Given the description of an element on the screen output the (x, y) to click on. 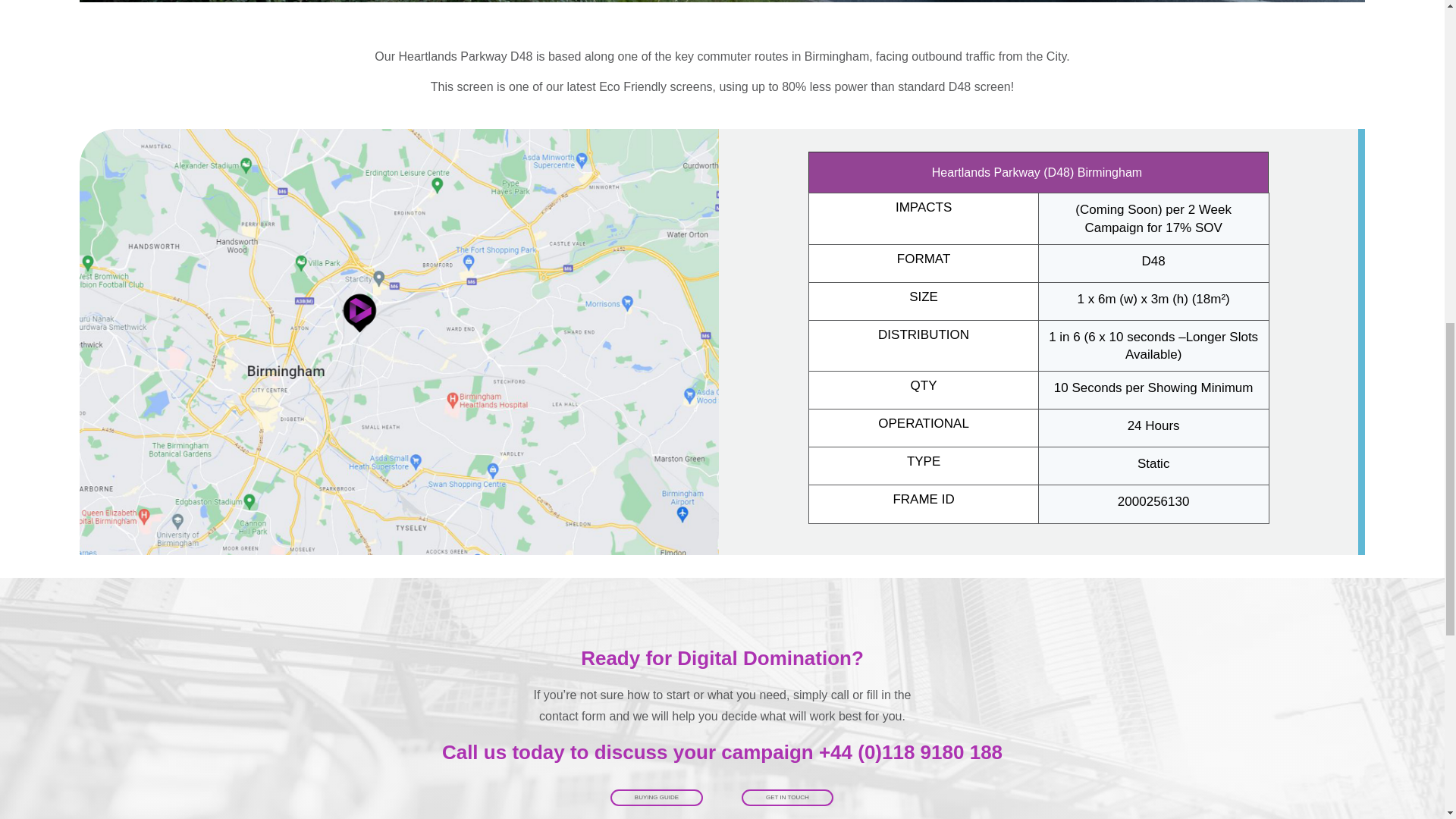
GET IN TOUCH (786, 797)
BUYING GUIDE (656, 797)
